Given the description of an element on the screen output the (x, y) to click on. 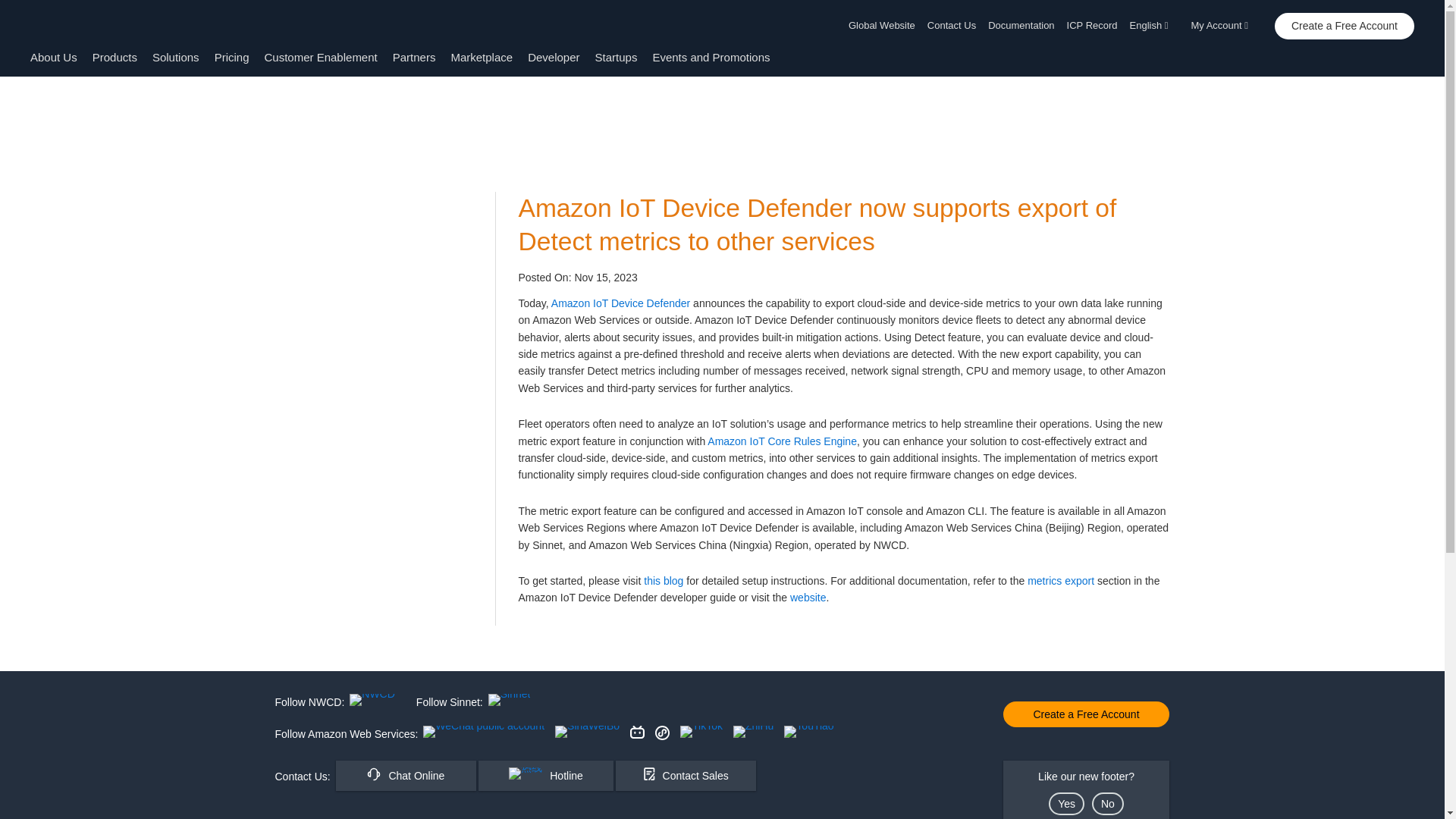
Skip to main content (7, 105)
Startups (616, 56)
Marketplace (480, 56)
Create a Free Account (1344, 25)
Pricing (231, 56)
My Account  (1224, 26)
Solutions (175, 56)
WeChat public account (483, 731)
Products (114, 56)
Bilibili (637, 731)
